Given the description of an element on the screen output the (x, y) to click on. 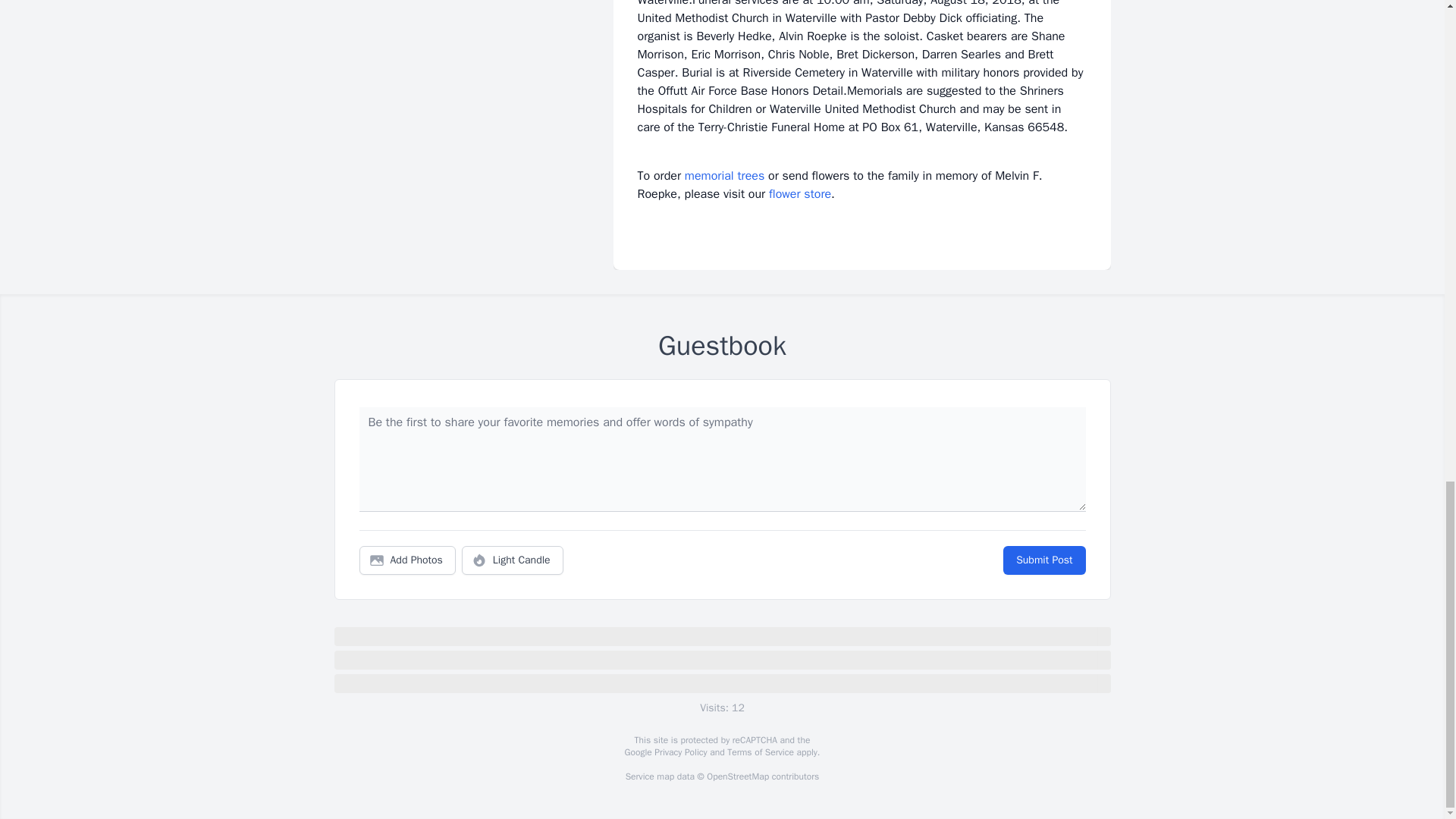
Submit Post (1043, 560)
Terms of Service (759, 752)
memorial trees (724, 175)
Add Photos (407, 560)
Privacy Policy (679, 752)
flower store (799, 193)
Light Candle (512, 560)
OpenStreetMap (737, 776)
